Given the description of an element on the screen output the (x, y) to click on. 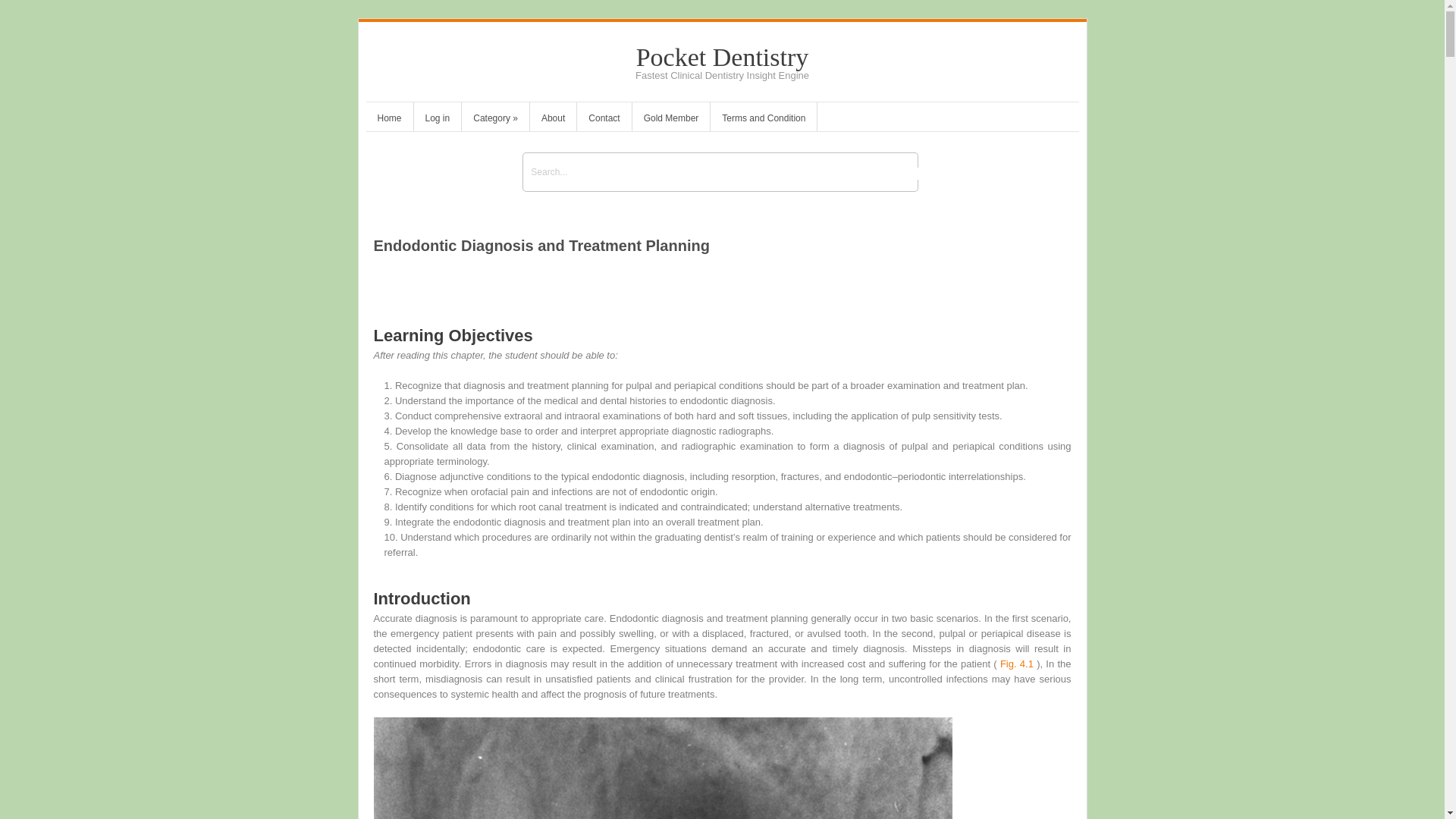
Terms and Condition (763, 119)
About (552, 119)
Log in (437, 119)
Home (388, 119)
Contact (603, 119)
Pocket Dentistry (722, 57)
Pocket Dentistry (722, 57)
Gold Member (670, 119)
